Given the description of an element on the screen output the (x, y) to click on. 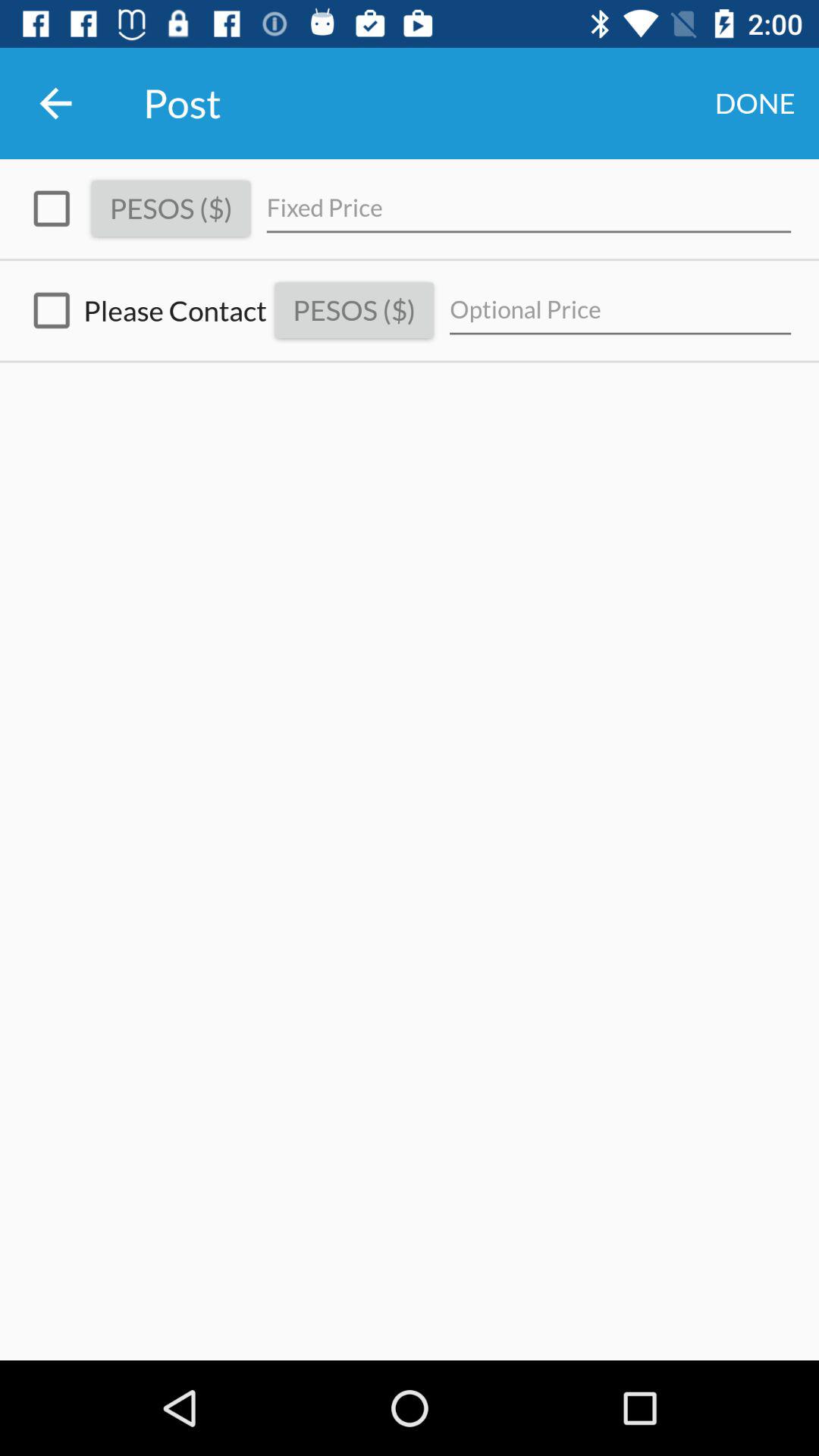
enter optional price (620, 310)
